Given the description of an element on the screen output the (x, y) to click on. 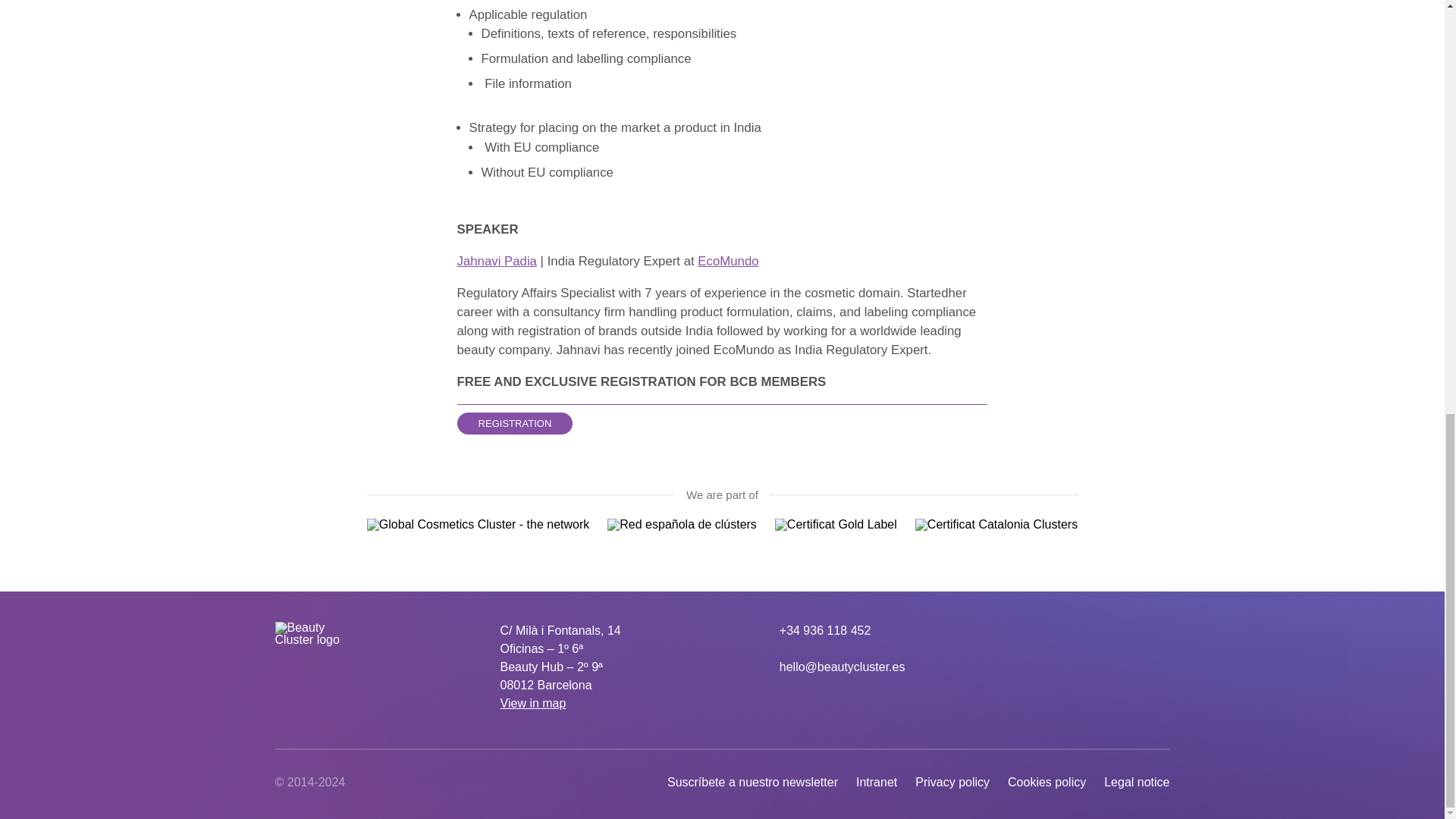
Linkedin (1038, 630)
Feed (1160, 630)
Youtube (1099, 630)
Instagram (1129, 630)
Twitter (1068, 630)
